Given the description of an element on the screen output the (x, y) to click on. 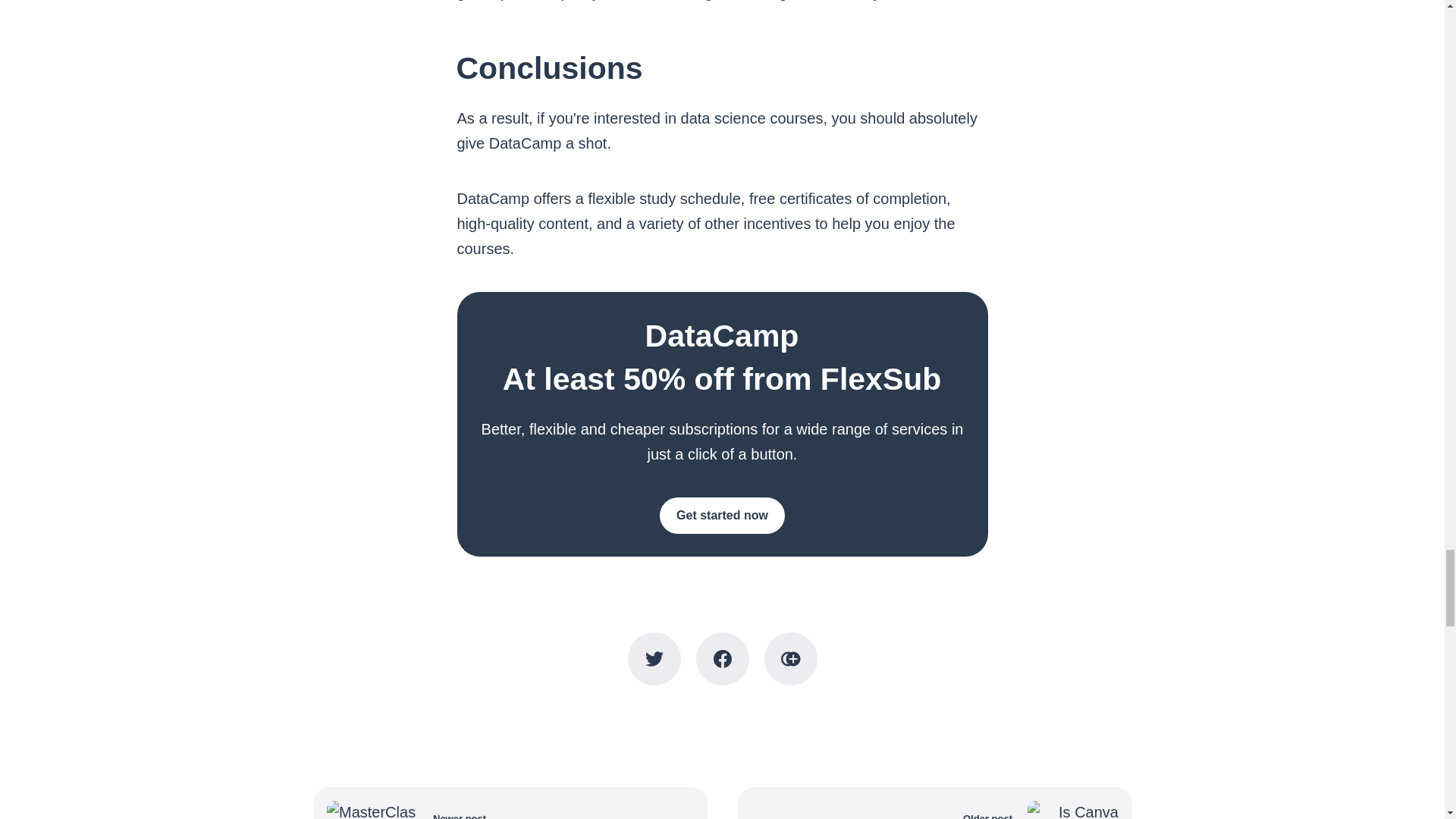
Get started now (721, 515)
